Given the description of an element on the screen output the (x, y) to click on. 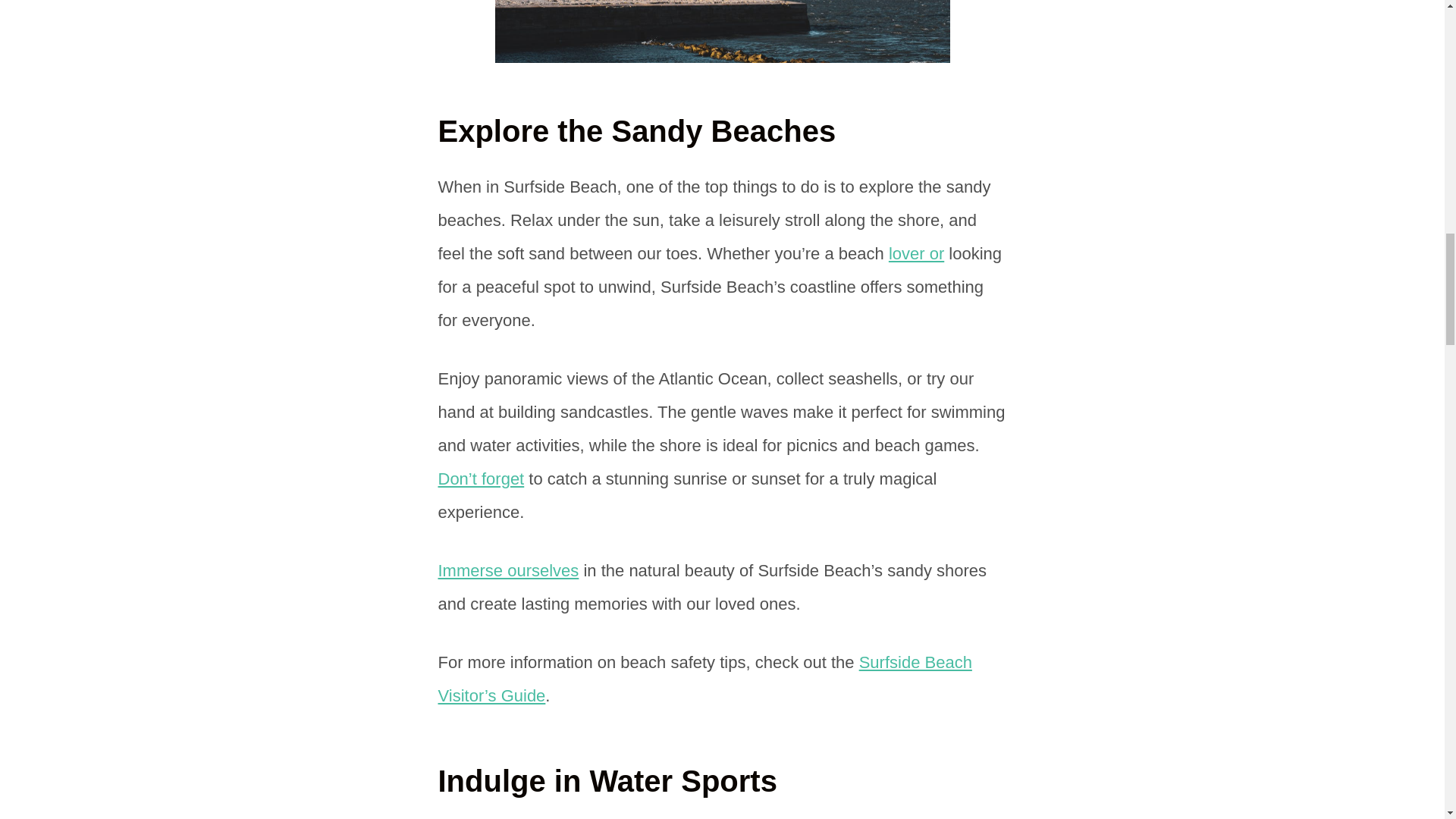
Immerse ourselves (508, 570)
lover or (915, 253)
